Given the description of an element on the screen output the (x, y) to click on. 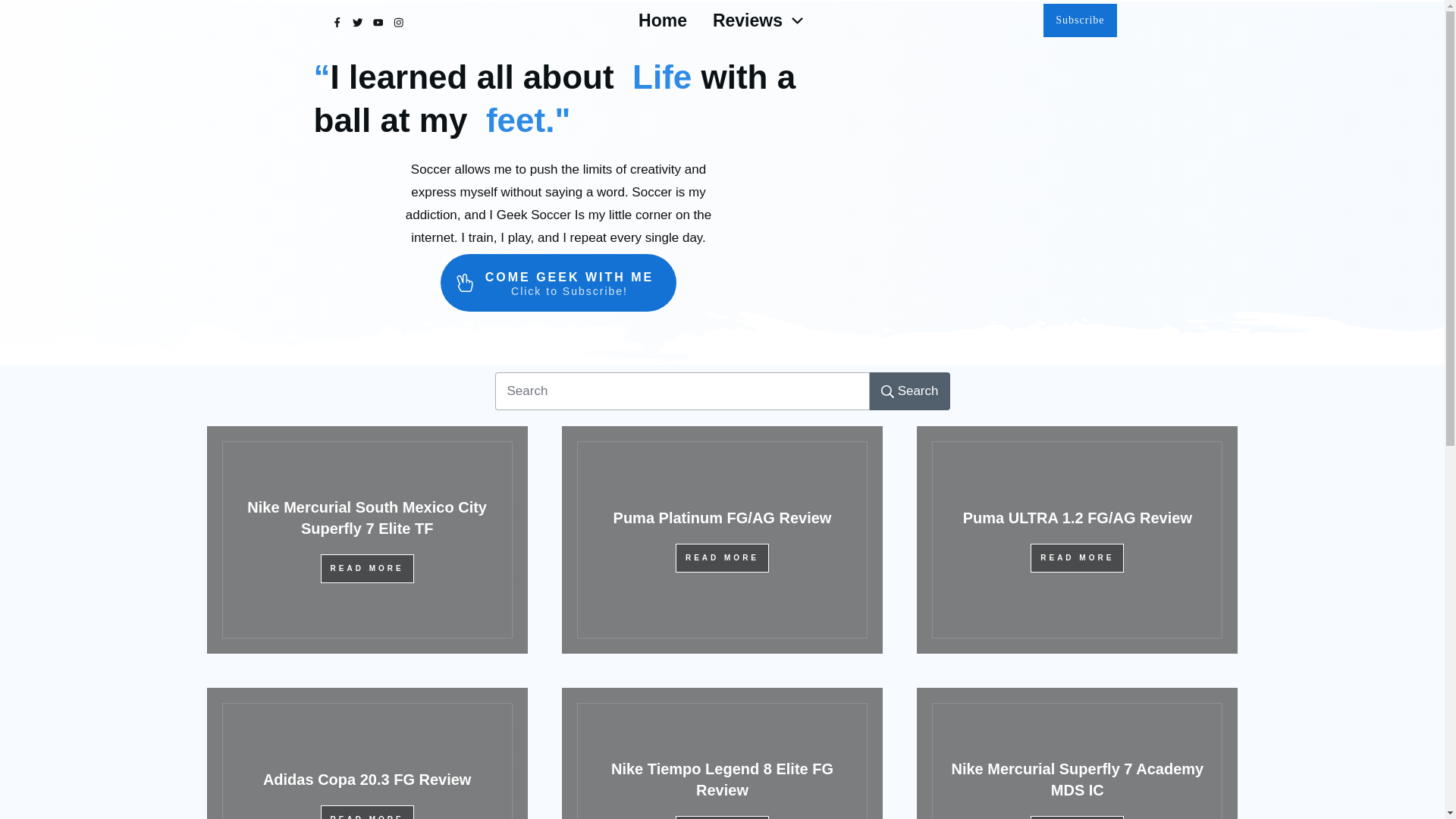
READ MORE (721, 557)
Nike Tiempo Legend 8 Elite FG Review (721, 779)
Subscribe (1079, 20)
Search (909, 391)
Nike Mercurial South Mexico City Superfly 7 Elite TF (366, 517)
Nike Mercurial Superfly 7 Academy MDS IC (1077, 779)
Nike Mercurial Superfly 7 Academy MDS IC (1077, 779)
Reviews (759, 20)
READ MORE (366, 812)
Nike Tiempo Legend 8 Elite FG Review (721, 779)
